Given the description of an element on the screen output the (x, y) to click on. 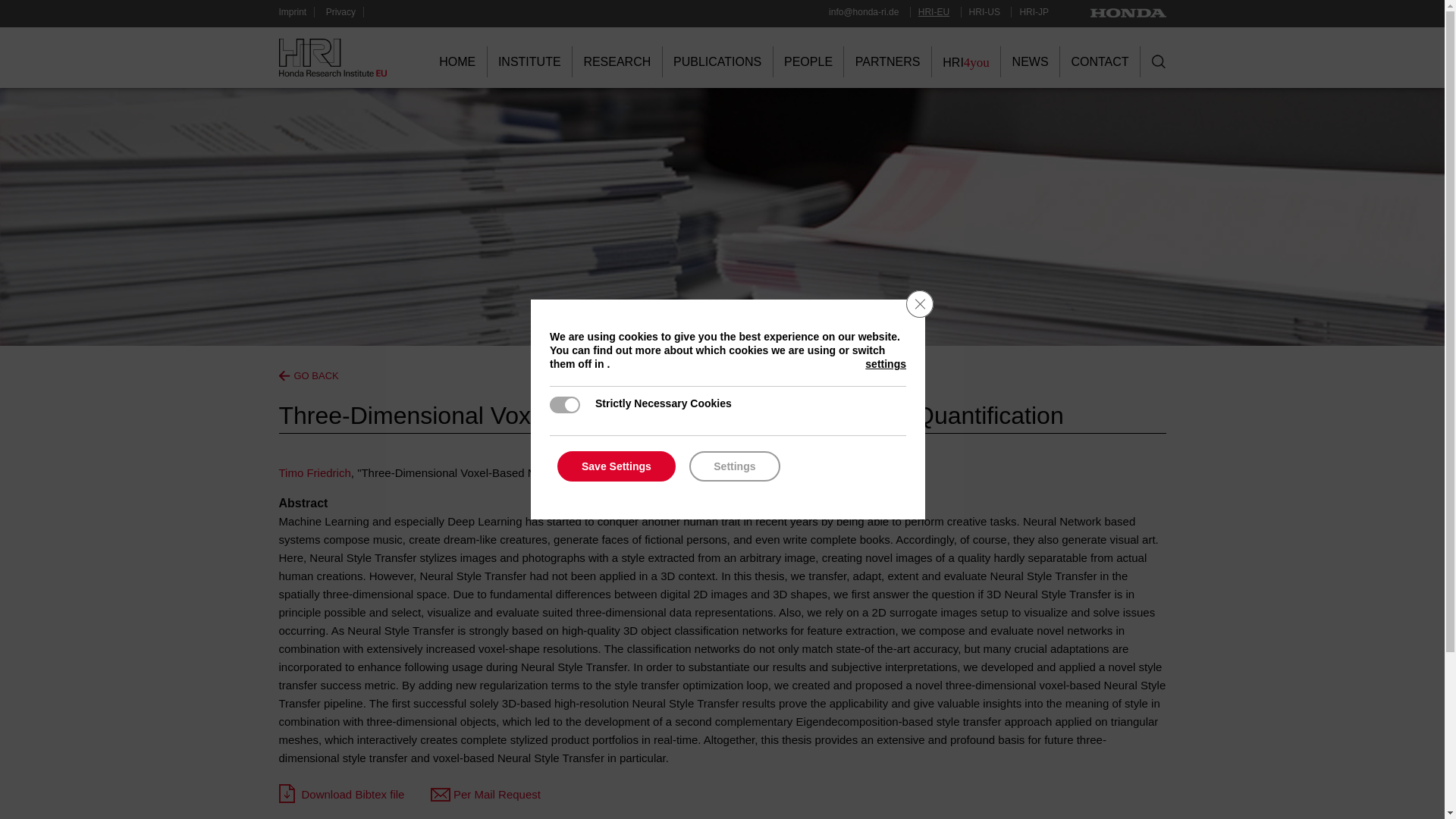
HRI-EU (929, 11)
HRI-JP (1029, 11)
HRI-US (980, 11)
Privacy (345, 11)
Imprint (297, 11)
